Given the description of an element on the screen output the (x, y) to click on. 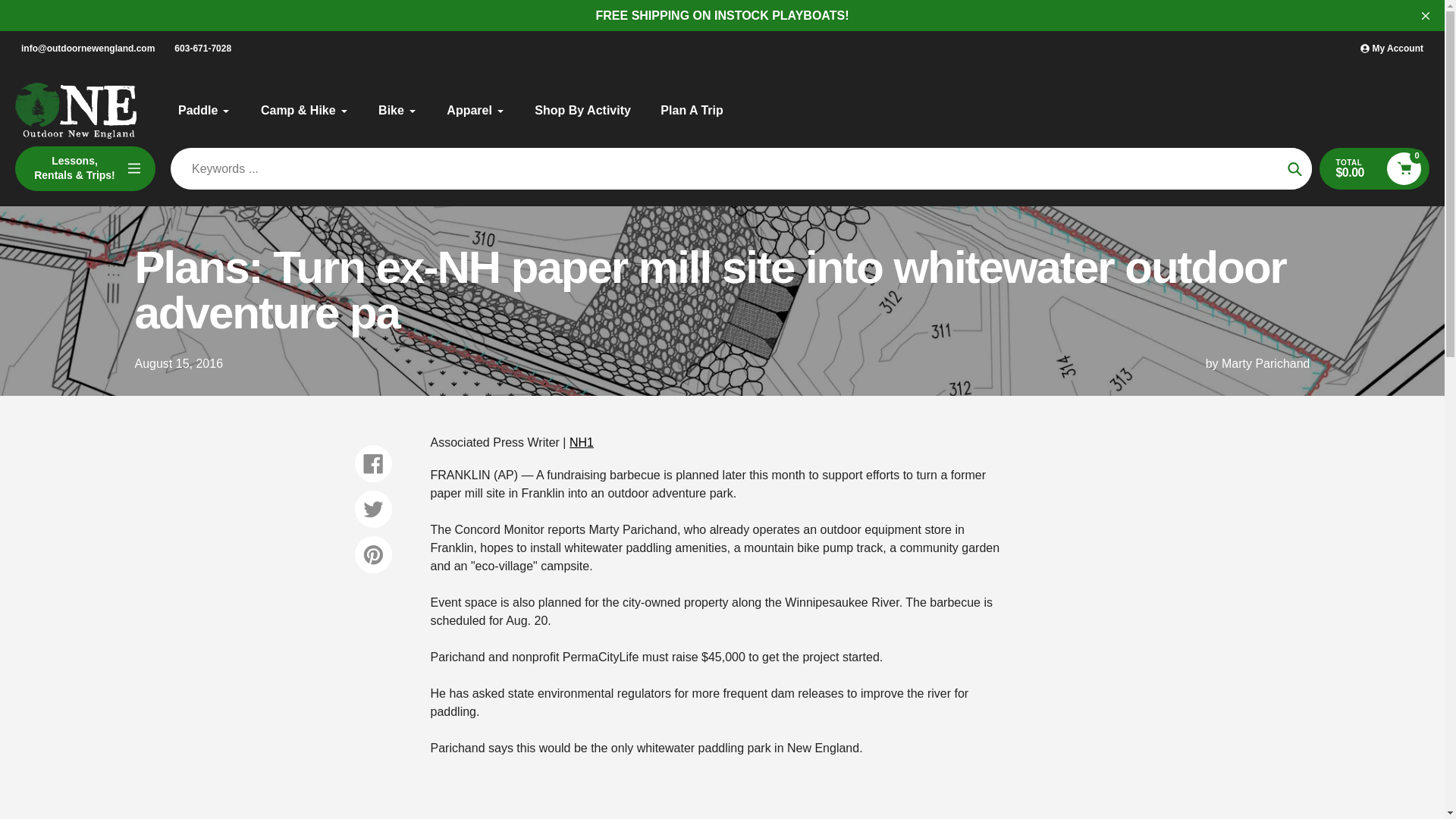
603-671-7028 (202, 48)
Paddle (203, 110)
FREE SHIPPING ON INSTOCK PLAYBOATS! (721, 14)
My Account (1391, 48)
